Given the description of an element on the screen output the (x, y) to click on. 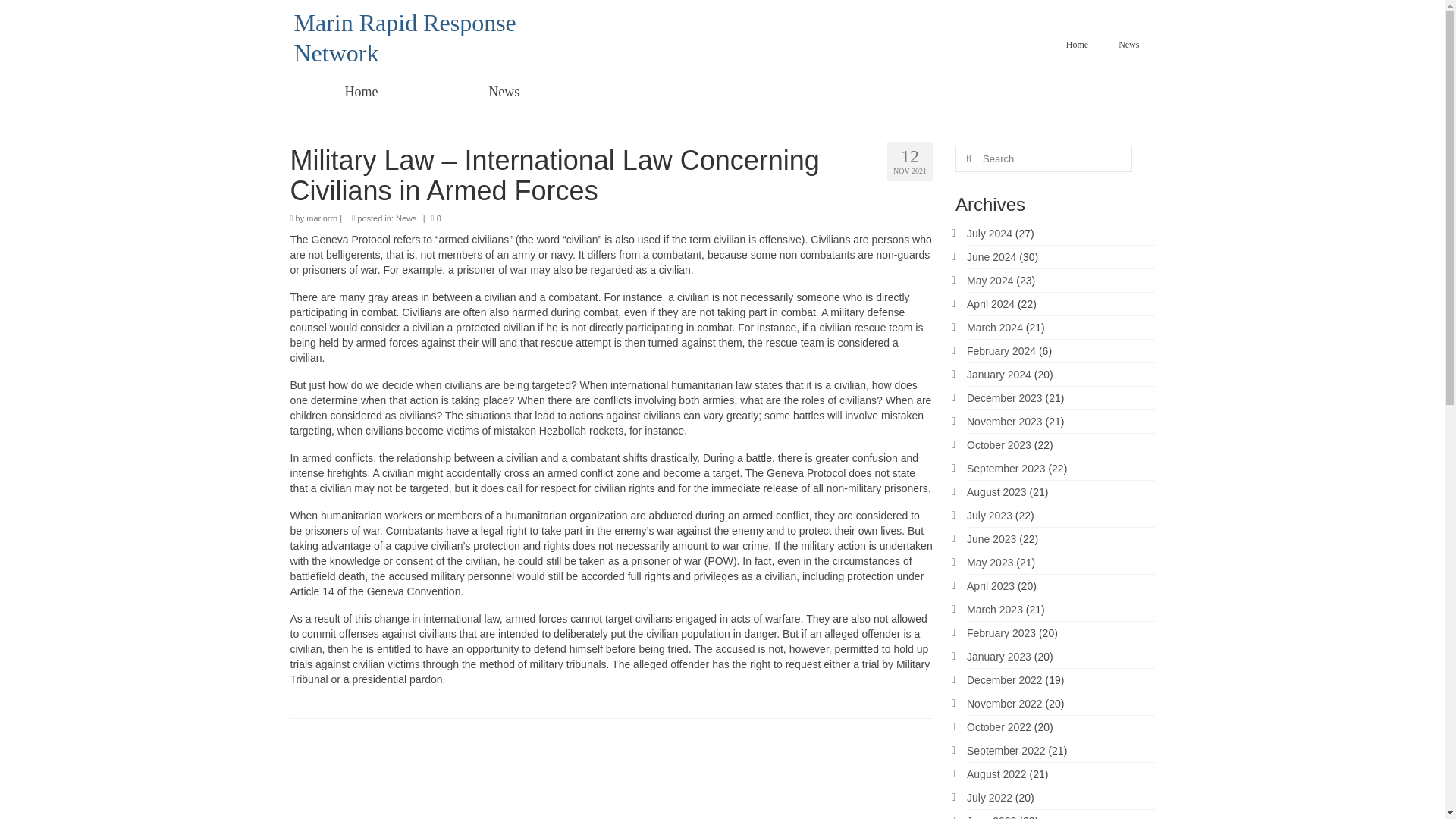
September 2023 (1005, 468)
January 2023 (998, 656)
Marin Rapid Response Network (405, 37)
News (503, 91)
June 2024 (991, 256)
April 2023 (990, 585)
November 2022 (1004, 703)
May 2023 (989, 562)
October 2023 (998, 444)
Home (360, 91)
February 2023 (1000, 633)
News (1128, 44)
December 2022 (1004, 680)
March 2023 (994, 609)
News (406, 217)
